Given the description of an element on the screen output the (x, y) to click on. 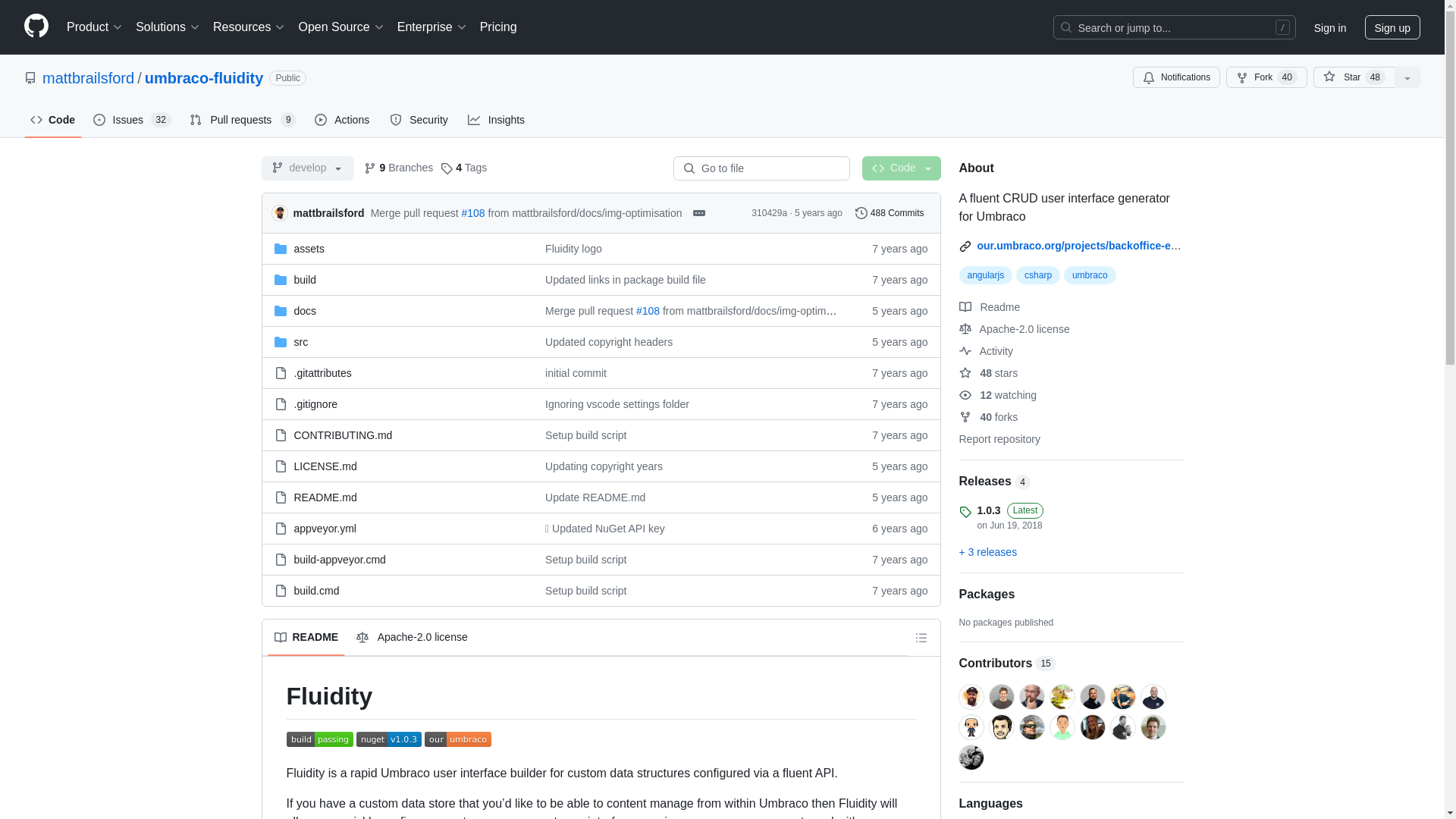
Resources (249, 27)
Open Source (341, 27)
9 (289, 119)
Fluidity logo (573, 248)
build (305, 278)
assets (309, 248)
32 (161, 119)
48 (1375, 77)
Product (95, 27)
Solutions (167, 27)
40 (1286, 77)
